Given the description of an element on the screen output the (x, y) to click on. 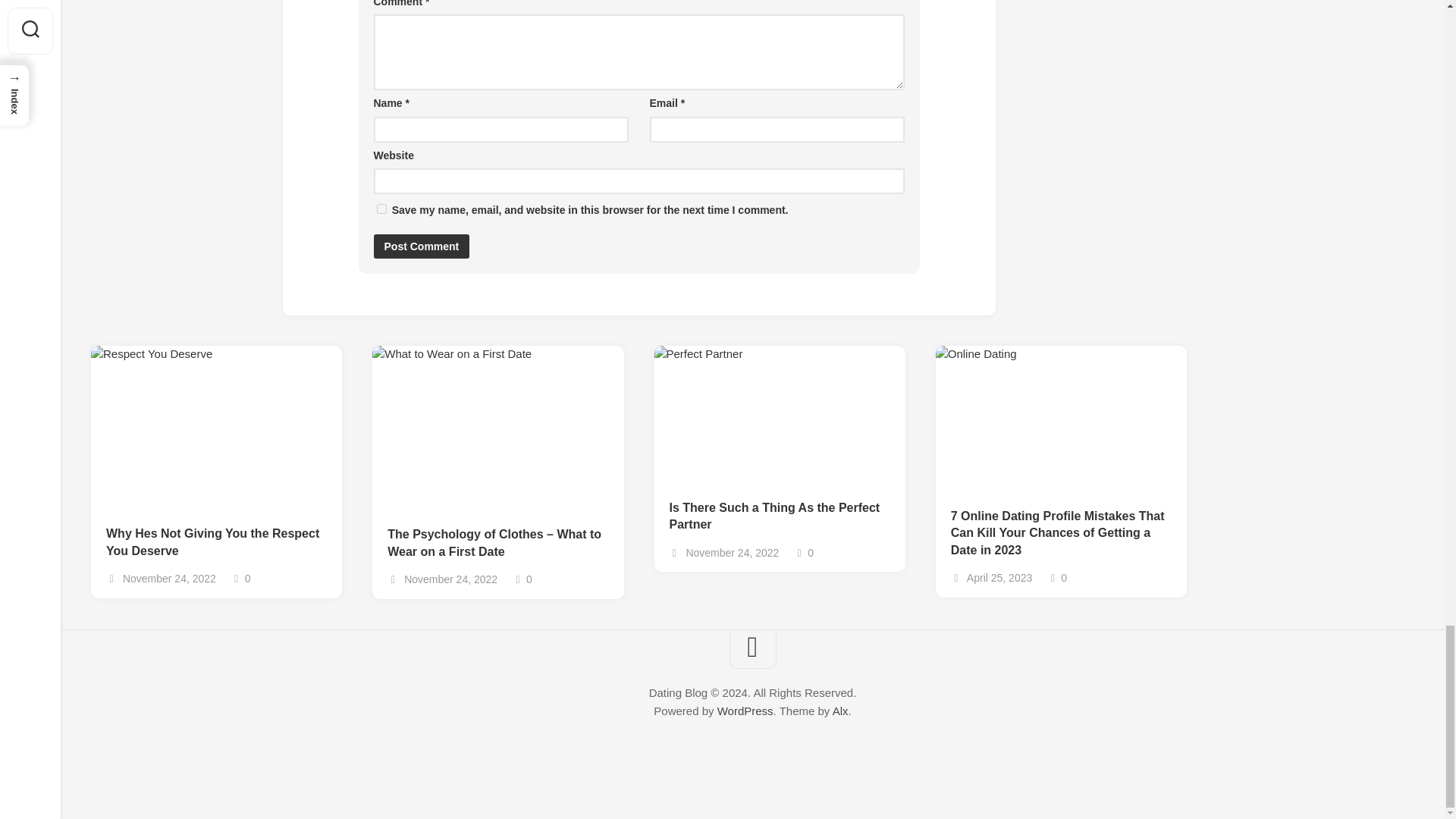
Why Hes Not Giving You the Respect You Deserve (216, 542)
0 (522, 579)
0 (803, 552)
Post Comment (420, 246)
Is There Such a Thing As the Perfect Partner (778, 516)
0 (240, 578)
Post Comment (420, 246)
yes (380, 208)
